Given the description of an element on the screen output the (x, y) to click on. 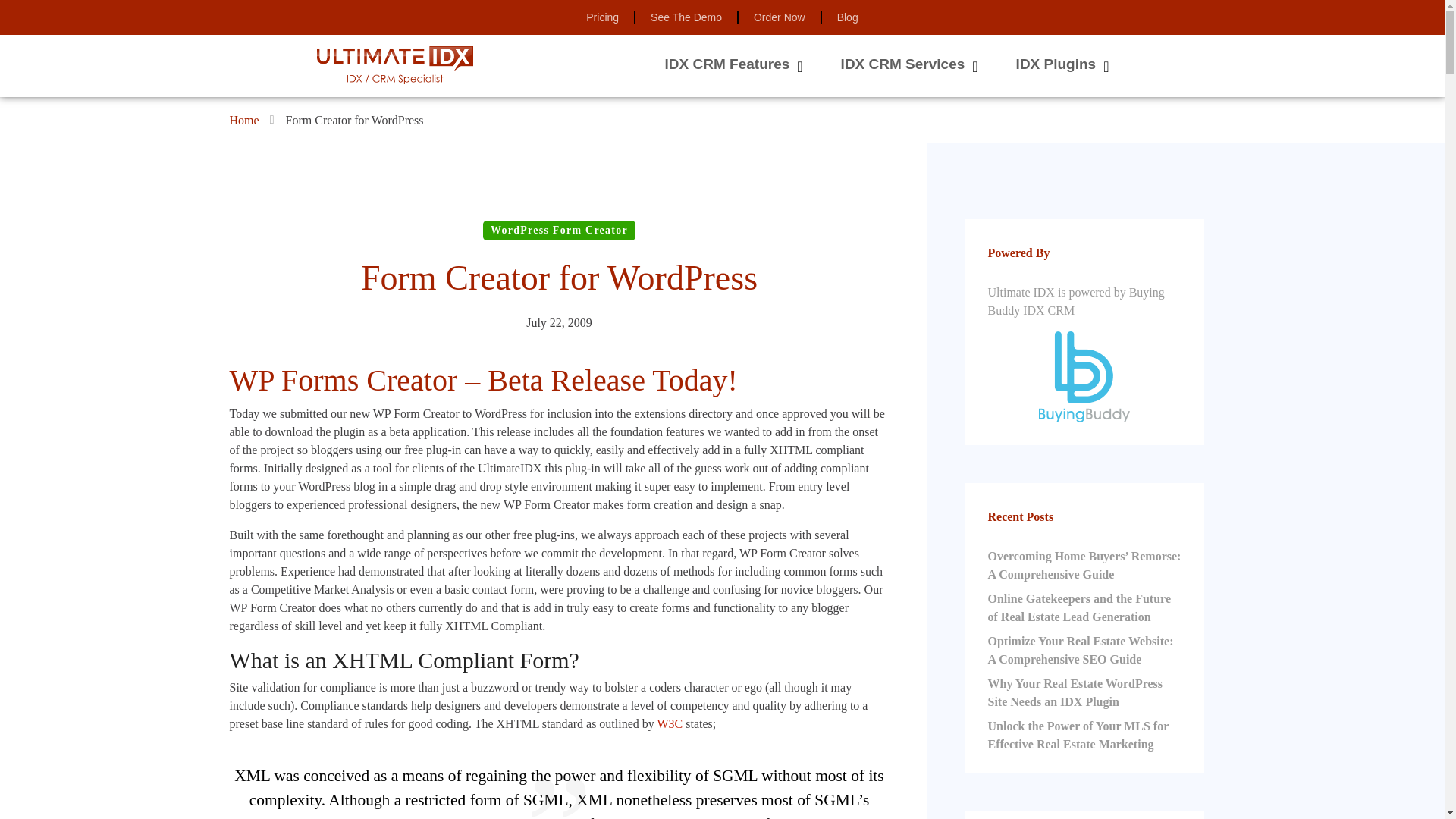
Blog (847, 17)
IDX CRM Features (727, 64)
Pricing (601, 17)
Order Now (779, 17)
See The Demo (685, 17)
IDX Plugins (1056, 64)
IDX CRM Services (903, 64)
